Given the description of an element on the screen output the (x, y) to click on. 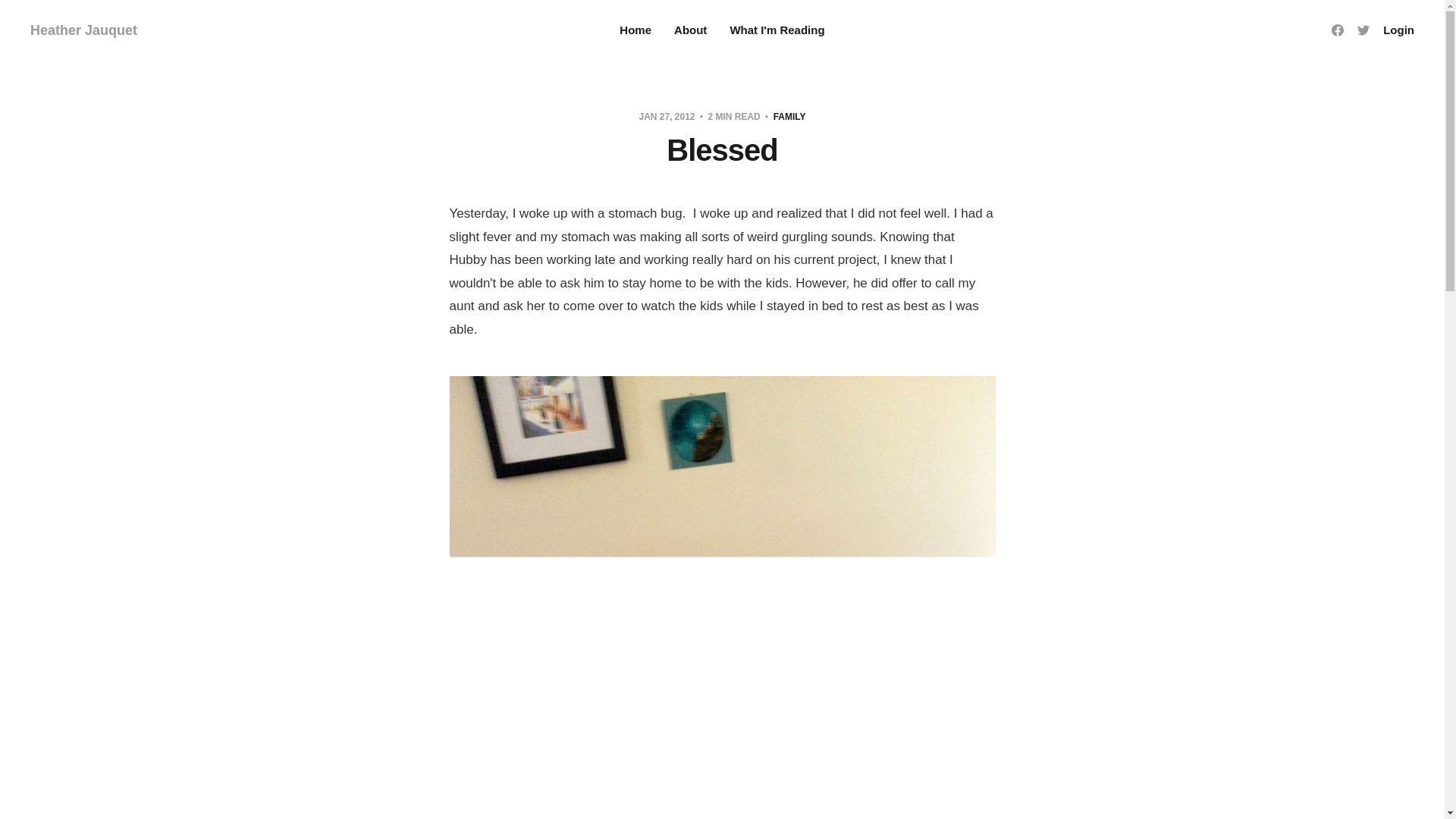
Home (635, 30)
Heather Jauquet (83, 30)
FAMILY (789, 116)
What I'm Reading (776, 30)
About (690, 30)
Login (1398, 30)
